Given the description of an element on the screen output the (x, y) to click on. 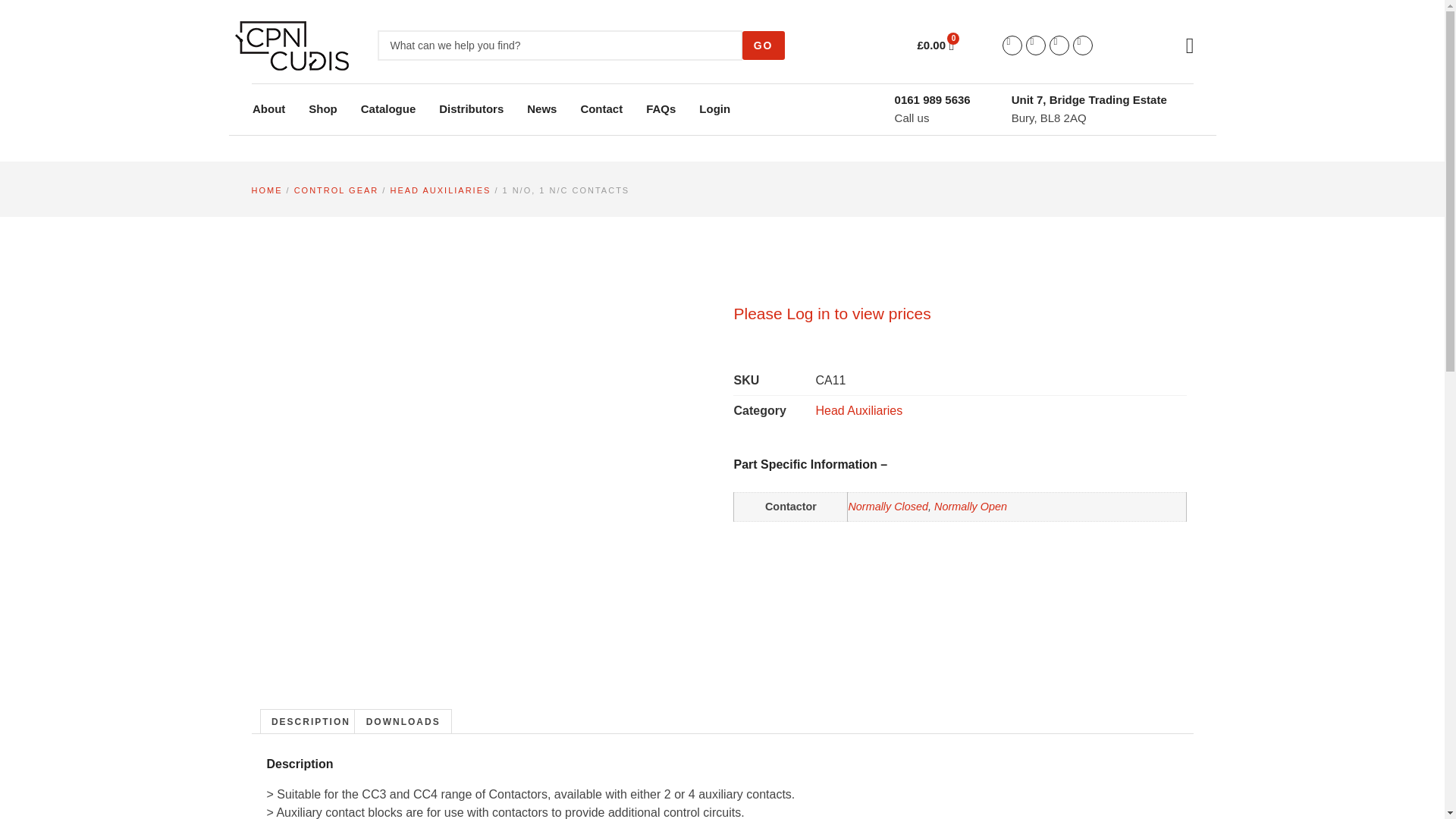
Distributors (471, 108)
News (542, 108)
About (269, 108)
Catalogue (387, 108)
GO (763, 45)
FAQs (660, 108)
Shop (323, 108)
Login (714, 108)
Contact (601, 108)
